Given the description of an element on the screen output the (x, y) to click on. 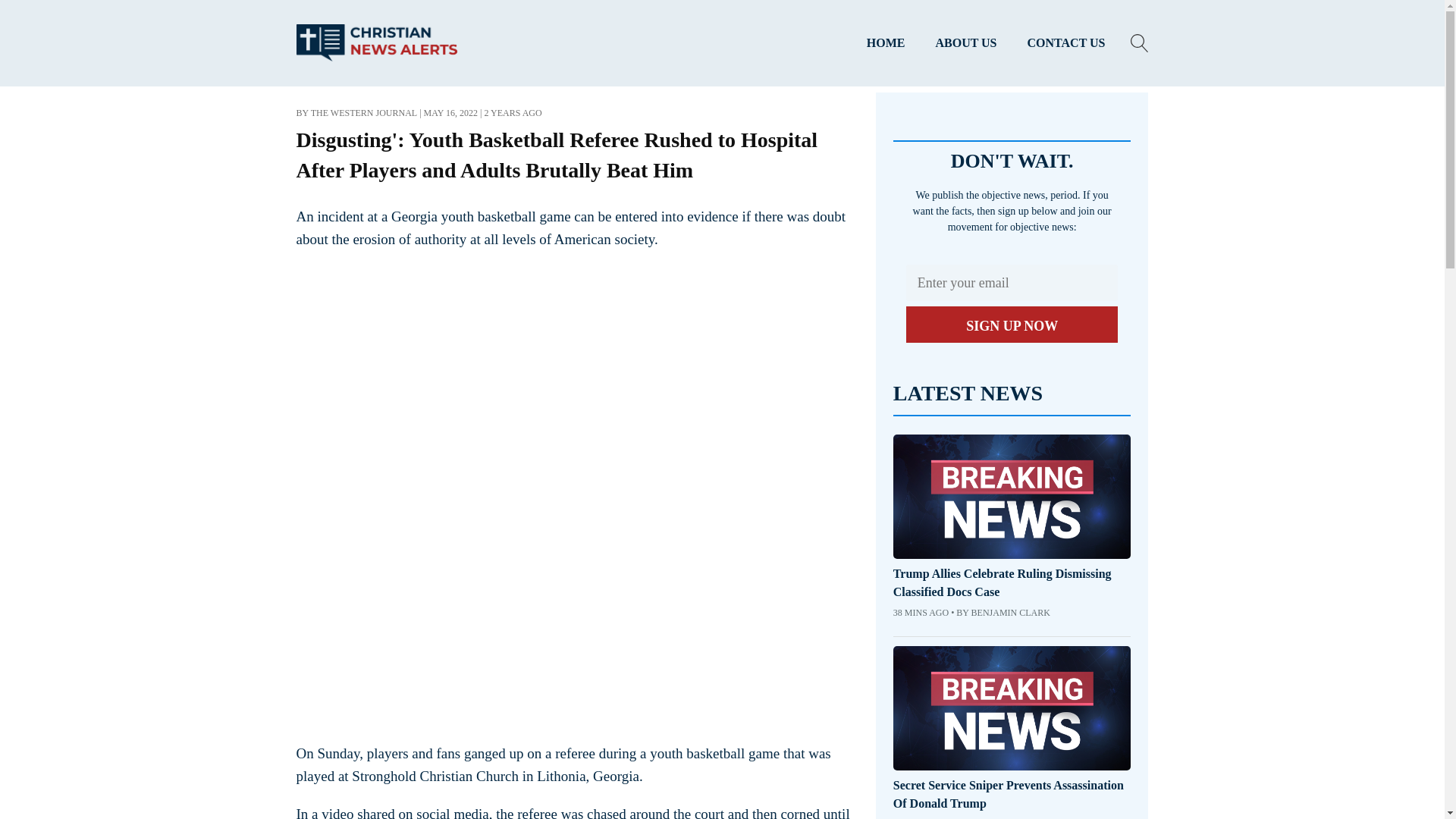
CONTACT US (1066, 43)
ABOUT US (965, 43)
SIGN UP NOW (1011, 324)
THE WESTERN JOURNAL (363, 112)
SIGN UP NOW (1011, 324)
Secret Service Sniper Prevents Assassination Of Donald Trump (1012, 794)
